Given the description of an element on the screen output the (x, y) to click on. 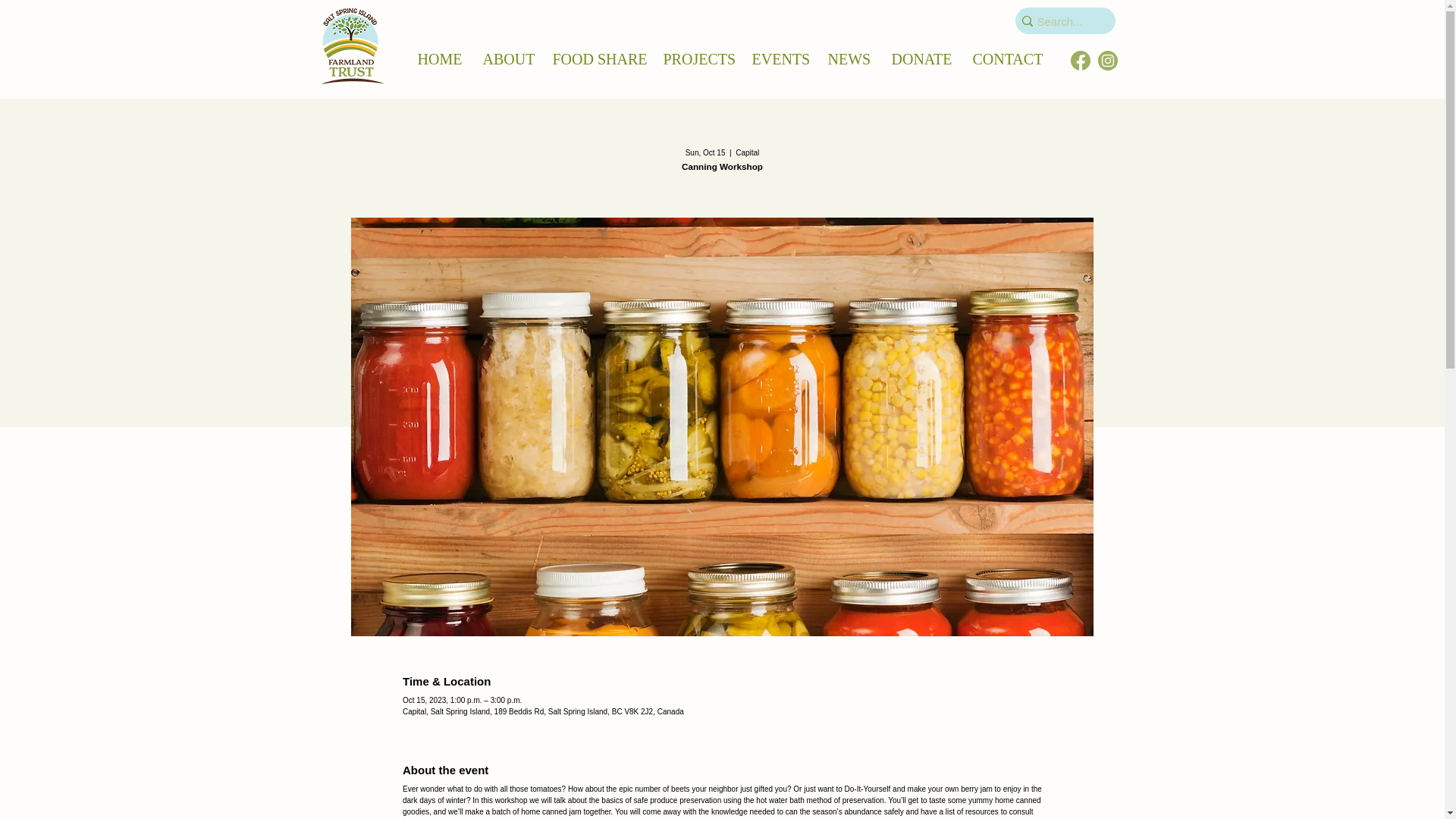
DONATE (919, 59)
CONTACT (1004, 59)
FOOD SHARE (596, 59)
PROJECTS (696, 59)
HOME (438, 59)
NEWS (847, 59)
EVENTS (777, 59)
ABOUT (506, 59)
